Given the description of an element on the screen output the (x, y) to click on. 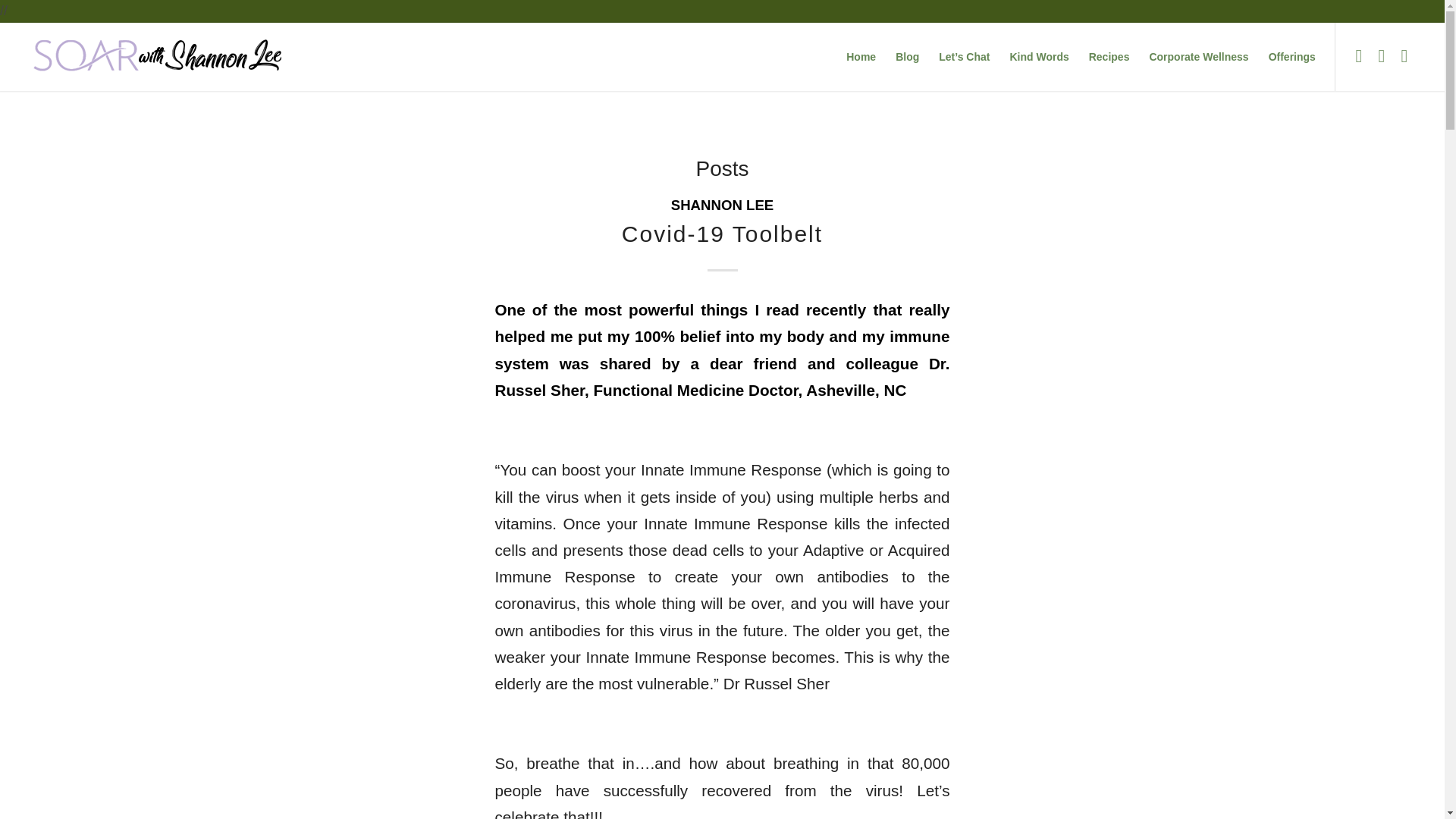
Corporate Wellness (1197, 56)
Kind Words (1038, 56)
SHANNON LEE (722, 204)
Covid-19 Toolbelt (721, 233)
Permanent Link: Covid-19 Toolbelt (721, 233)
